Given the description of an element on the screen output the (x, y) to click on. 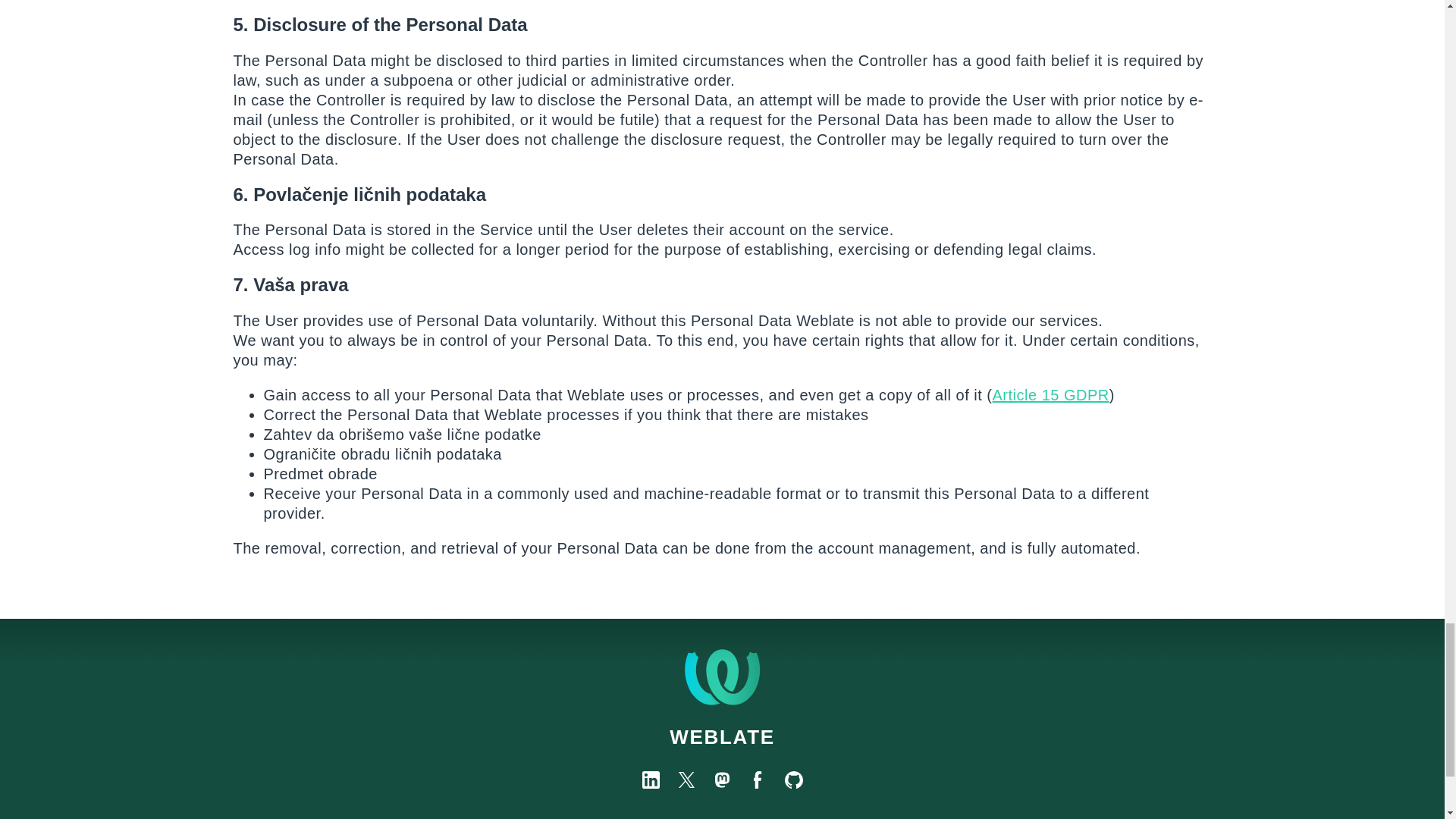
LinkedIn (650, 779)
GitHub (794, 779)
X (686, 779)
Facebook (758, 779)
Mastodon (722, 779)
Article 15 GDPR (1050, 394)
